Given the description of an element on the screen output the (x, y) to click on. 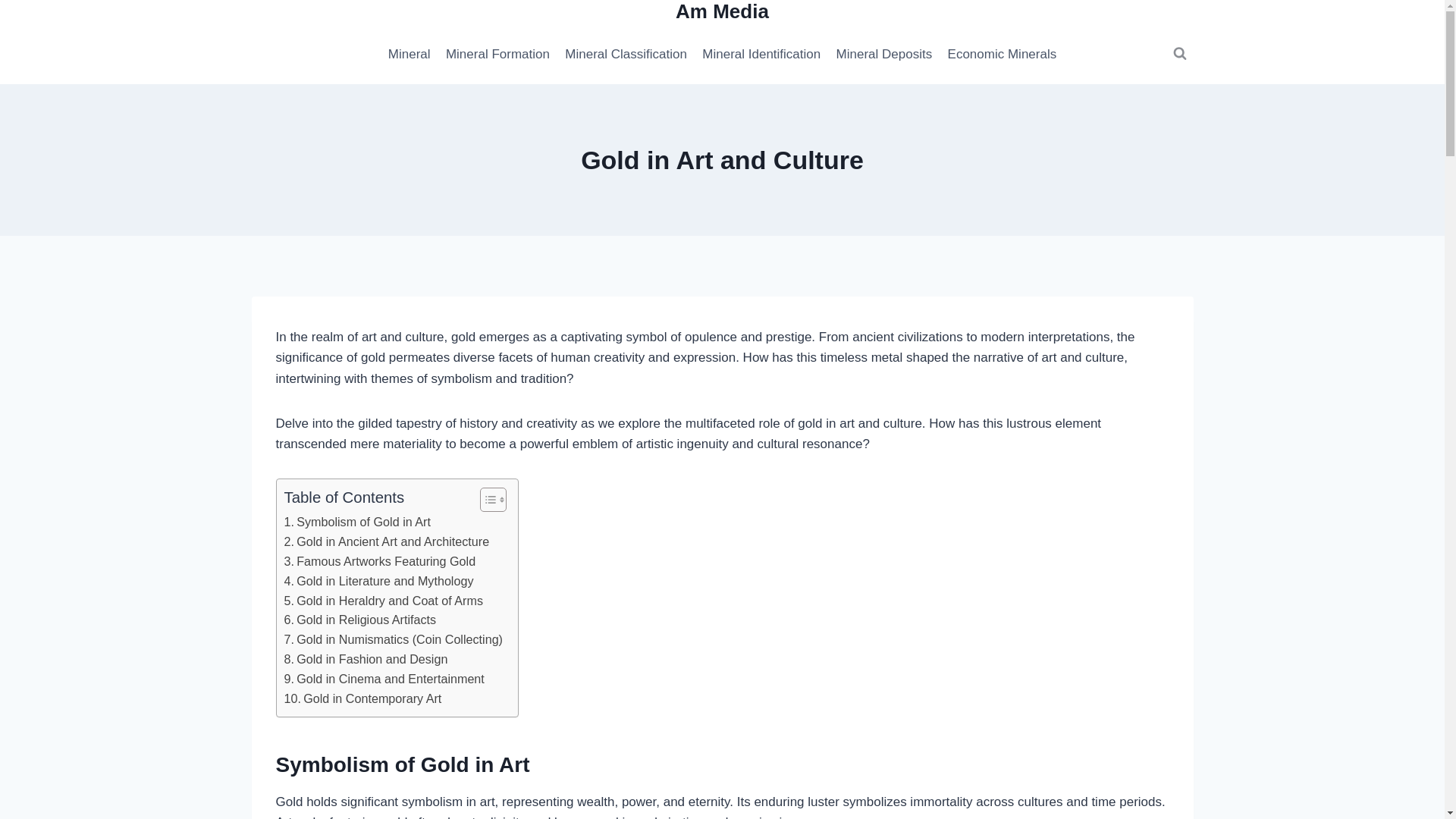
Mineral Identification (761, 54)
Am Media (721, 11)
Gold in Religious Artifacts (359, 619)
Mineral Formation (497, 54)
Gold in Religious Artifacts (359, 619)
Mineral Classification (625, 54)
Famous Artworks Featuring Gold (379, 561)
Economic Minerals (1001, 54)
Gold in Heraldry and Coat of Arms (383, 600)
Gold in Heraldry and Coat of Arms (383, 600)
Gold in Contemporary Art (362, 699)
Mineral Deposits (883, 54)
Gold in Cinema and Entertainment (383, 679)
Gold in Literature and Mythology (378, 581)
Symbolism of Gold in Art (356, 522)
